Given the description of an element on the screen output the (x, y) to click on. 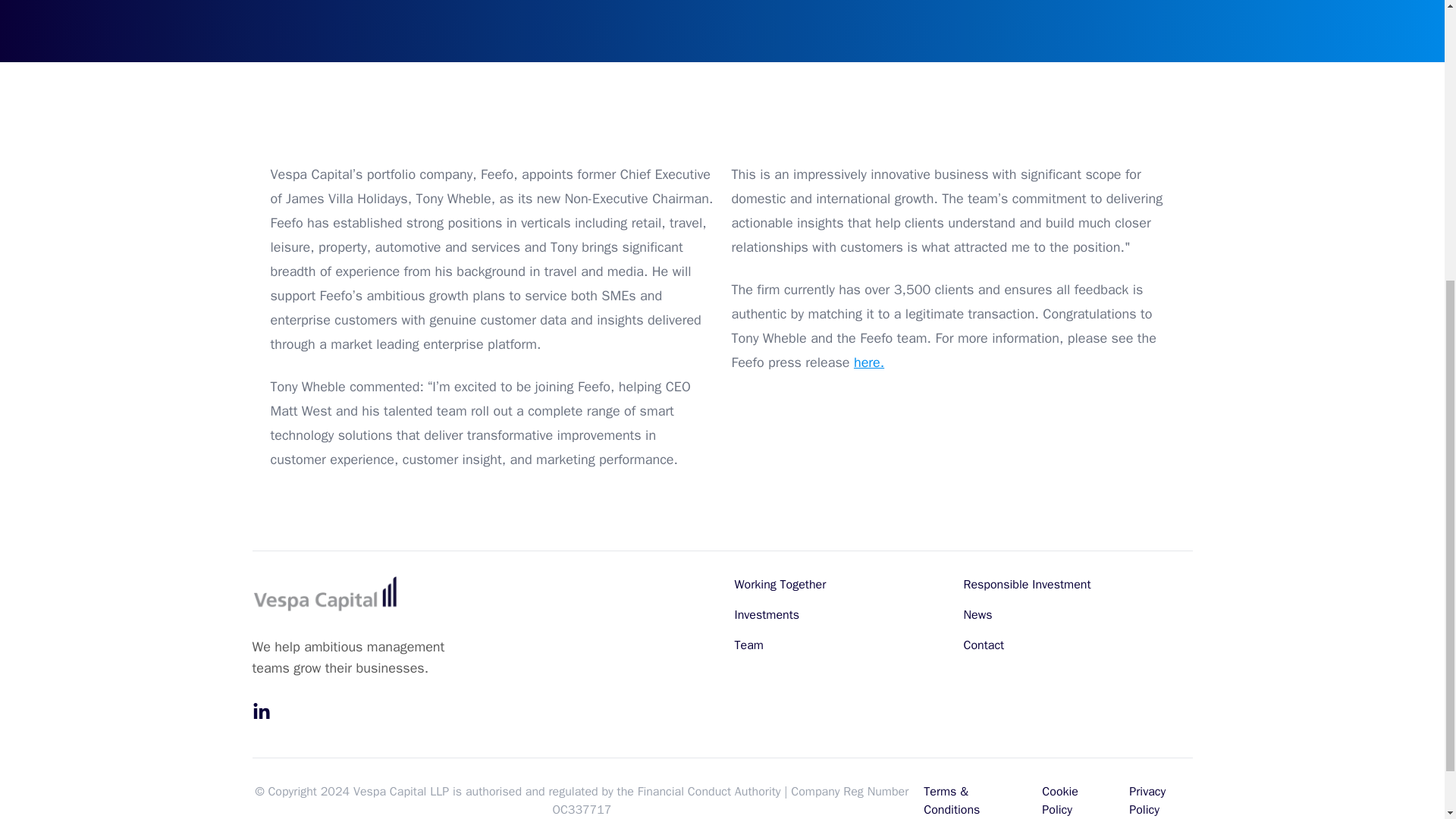
News (976, 614)
News (976, 614)
Contact (983, 645)
here. (868, 362)
Cookie Policy (1060, 800)
Working Together (779, 584)
Working Together (779, 584)
Privacy Policy (1147, 800)
Investments (766, 614)
Team (747, 645)
